Given the description of an element on the screen output the (x, y) to click on. 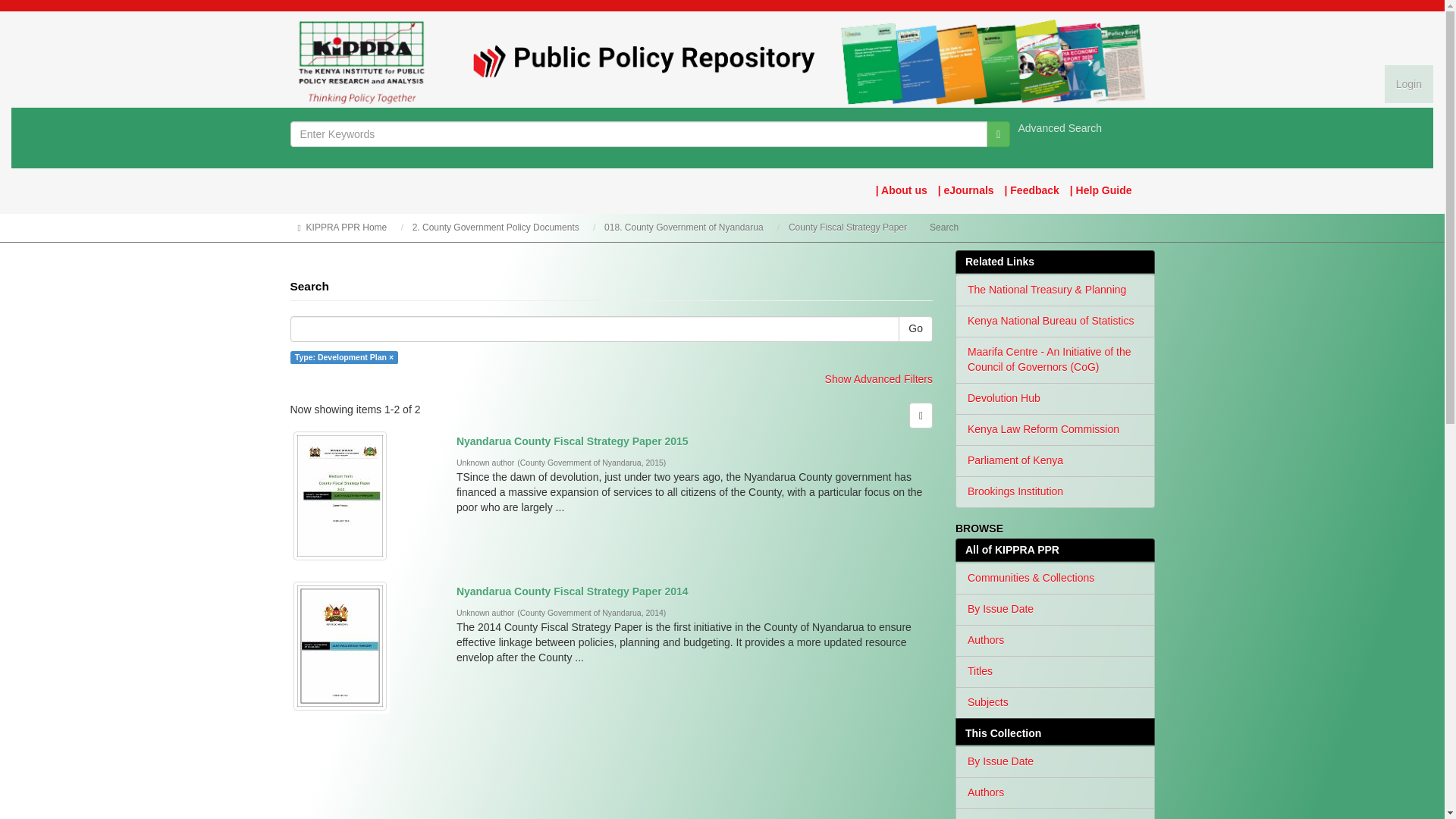
2. County Government Policy Documents (495, 226)
Advanced Search (1059, 128)
018. County Government of Nyandarua (683, 226)
Login (1408, 84)
Go (915, 329)
County Fiscal Strategy Paper (848, 226)
KIPPRA PPR Home (346, 226)
Show Advanced Filters (879, 378)
Go (998, 134)
